Given the description of an element on the screen output the (x, y) to click on. 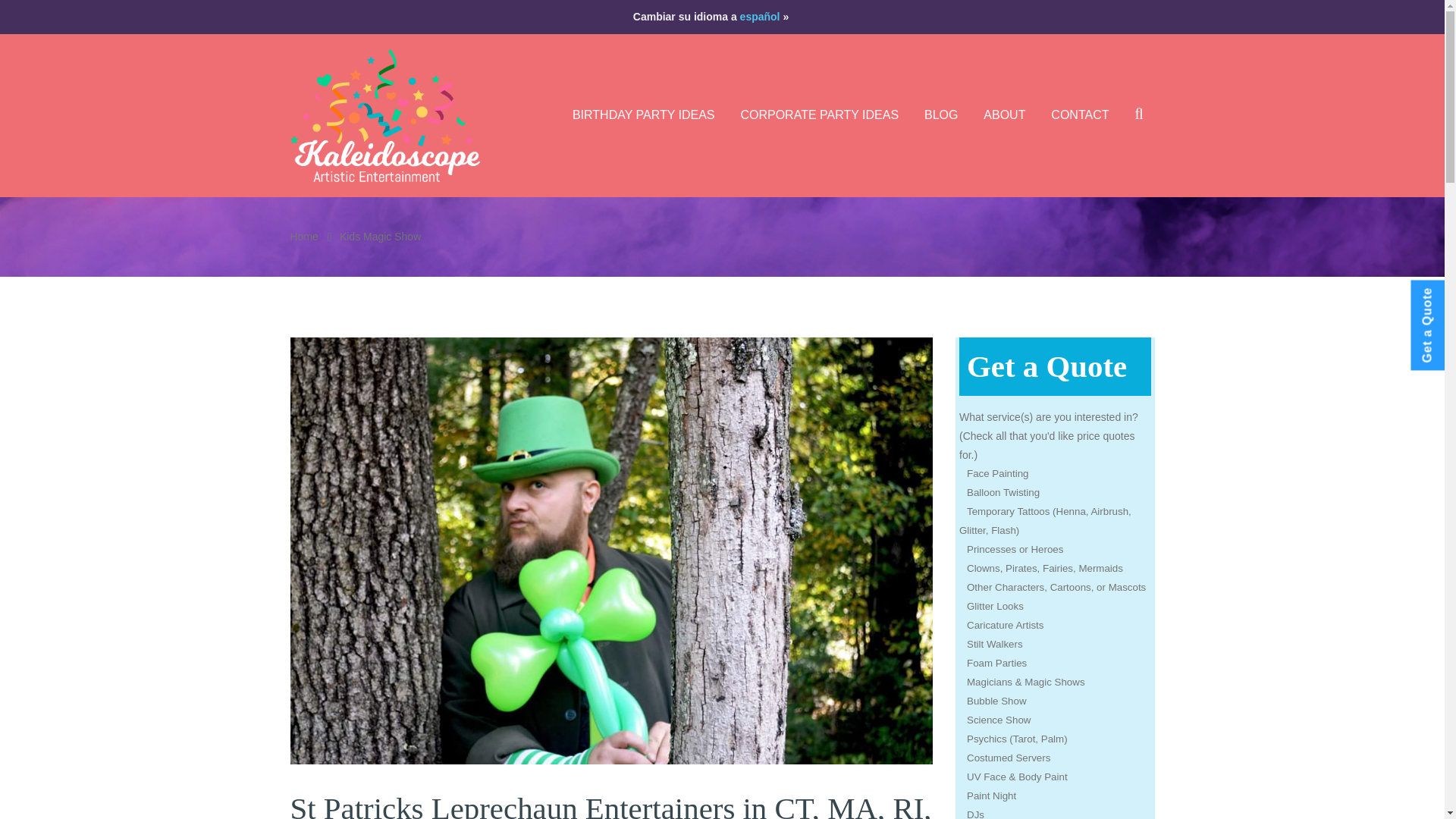
Science Show (1055, 720)
Home (303, 236)
Glitter Looks (1055, 606)
Costumed Servers (1055, 758)
BLOG (940, 114)
ABOUT (1004, 114)
BIRTHDAY PARTY IDEAS (643, 114)
CORPORATE PARTY IDEAS (819, 114)
Stilt Walkers (1055, 644)
CONTACT (1079, 114)
Other Characters, Cartoons, or Mascots (1055, 587)
Balloon Twisting (1055, 493)
Princesses or Heroes (1055, 549)
Face Painting (1055, 474)
St Patricks Leprechaun Entertainers in CT, MA, RI, and NH! (610, 805)
